Given the description of an element on the screen output the (x, y) to click on. 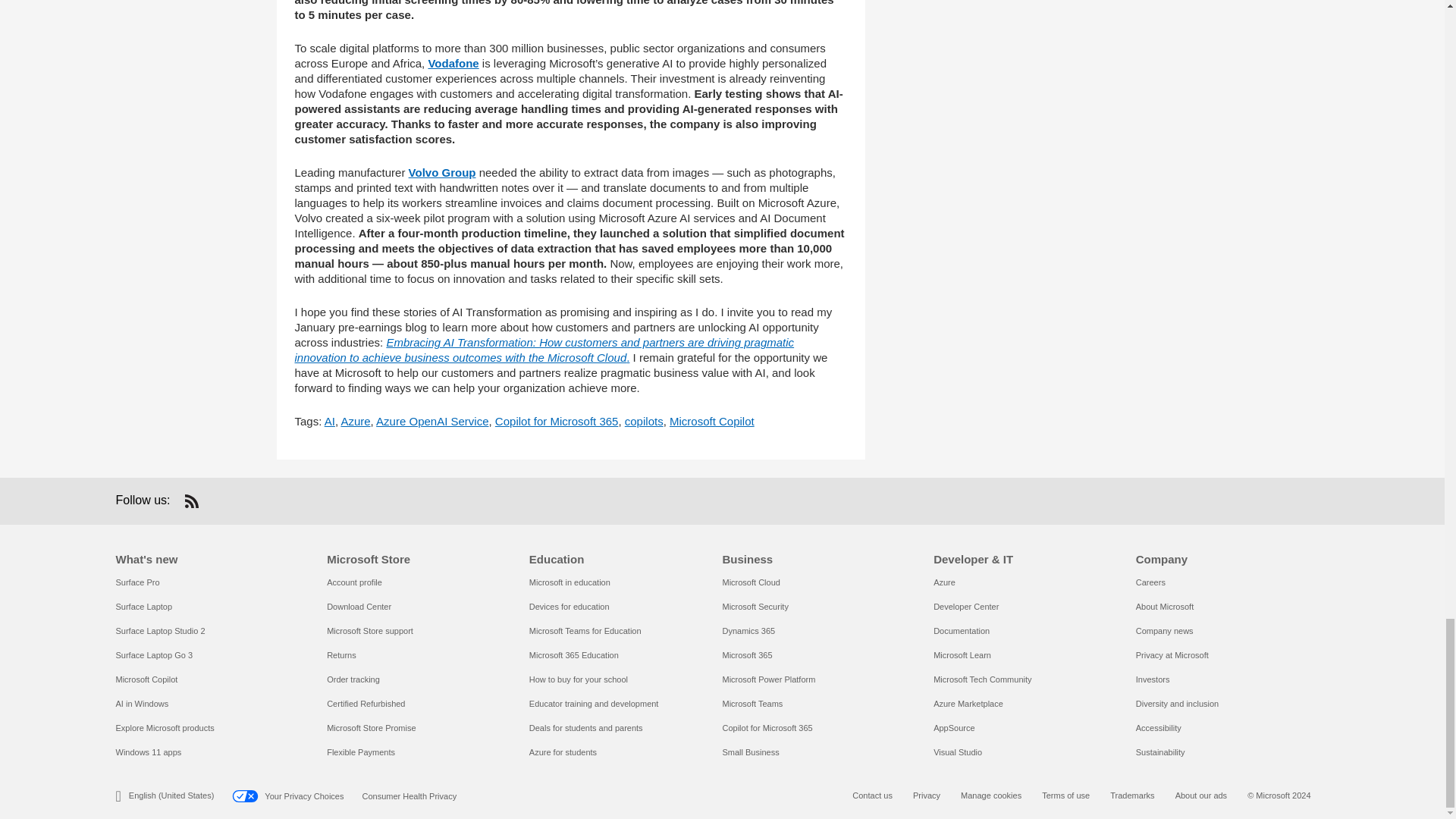
RSS Subscription (191, 500)
